Given the description of an element on the screen output the (x, y) to click on. 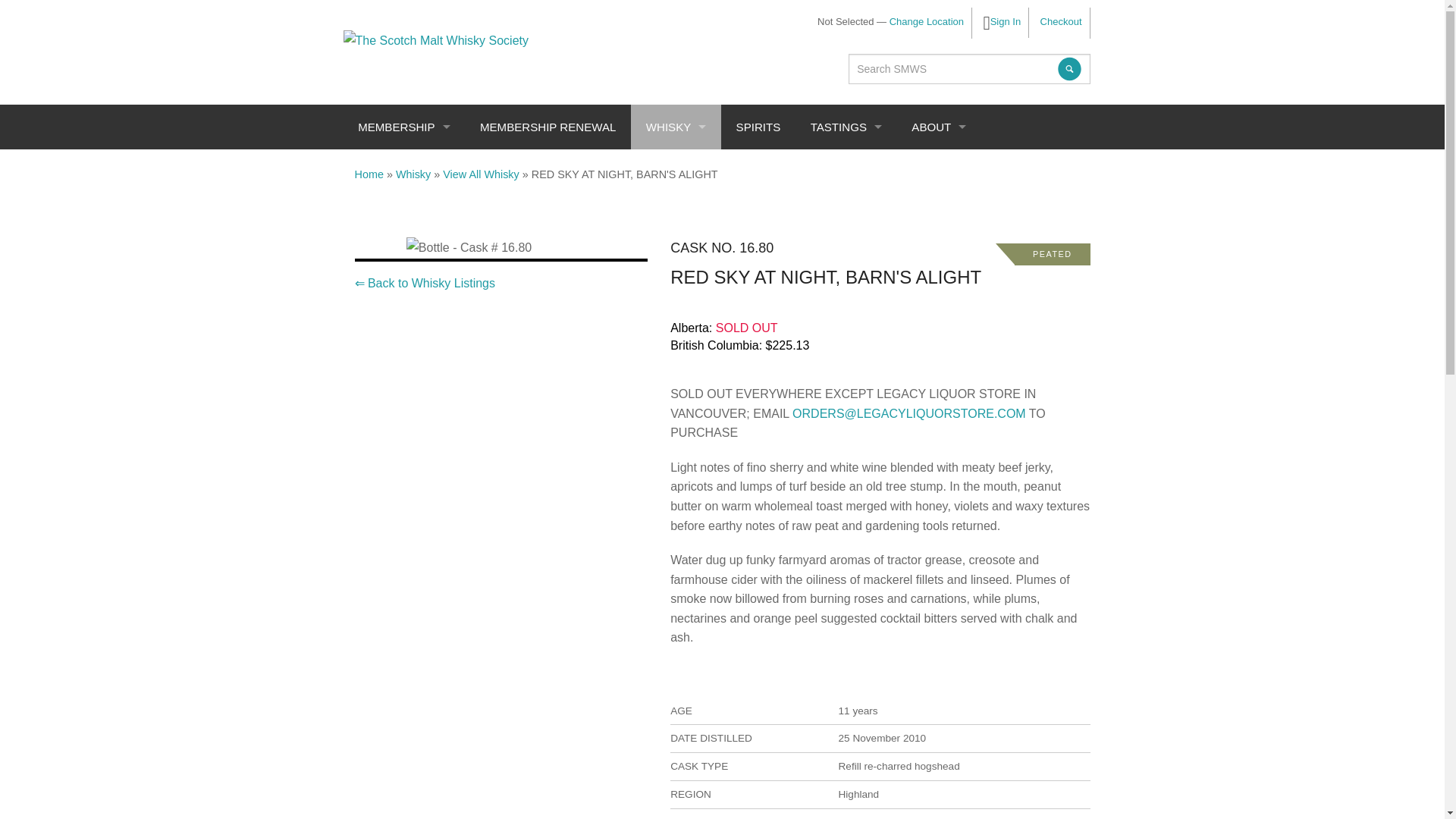
MEMBERSHIP (403, 126)
MEMBERSHIP (470, 186)
Unfiltered Magazine (470, 330)
Home (369, 174)
About (938, 126)
ABOUT (938, 126)
Change Location (926, 21)
Checkout (1061, 21)
View All Whisky (480, 174)
SMWS Accessories (470, 294)
